Given the description of an element on the screen output the (x, y) to click on. 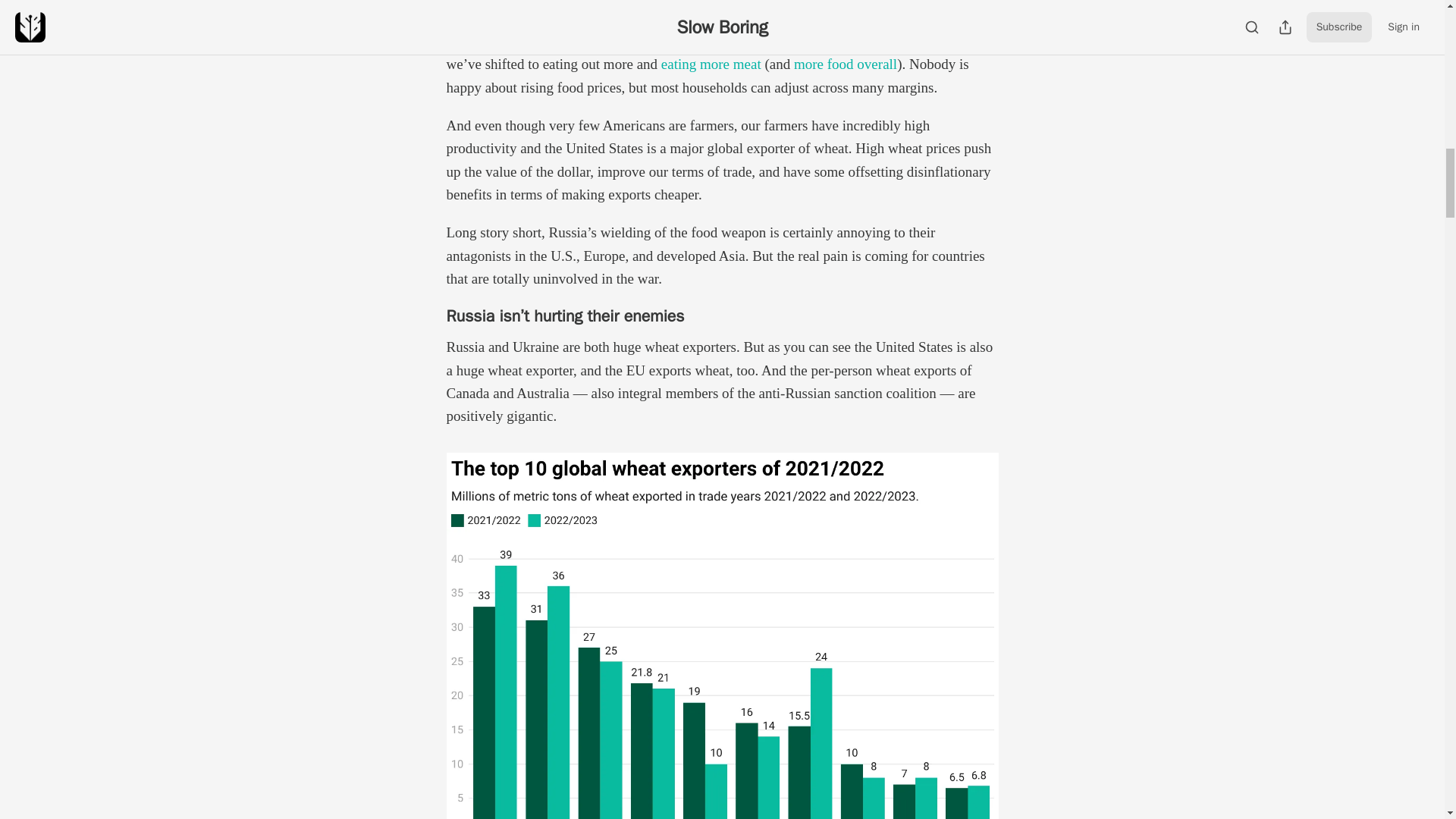
eating more meat (709, 64)
expensive energy (712, 17)
more food overall (844, 64)
